Given the description of an element on the screen output the (x, y) to click on. 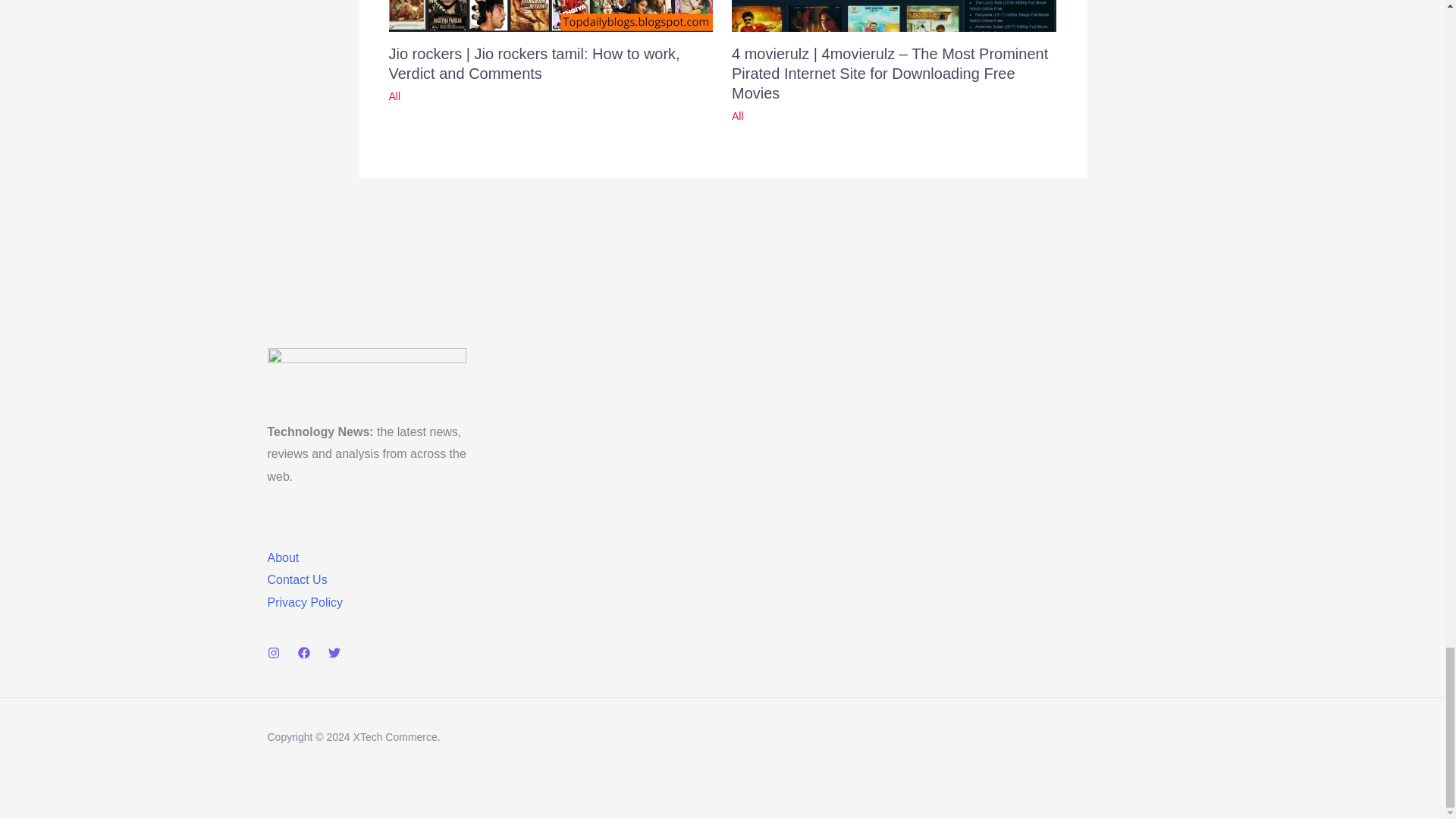
Privacy Policy (304, 602)
About (282, 557)
All (394, 96)
Contact Us (296, 579)
All (738, 115)
